Given the description of an element on the screen output the (x, y) to click on. 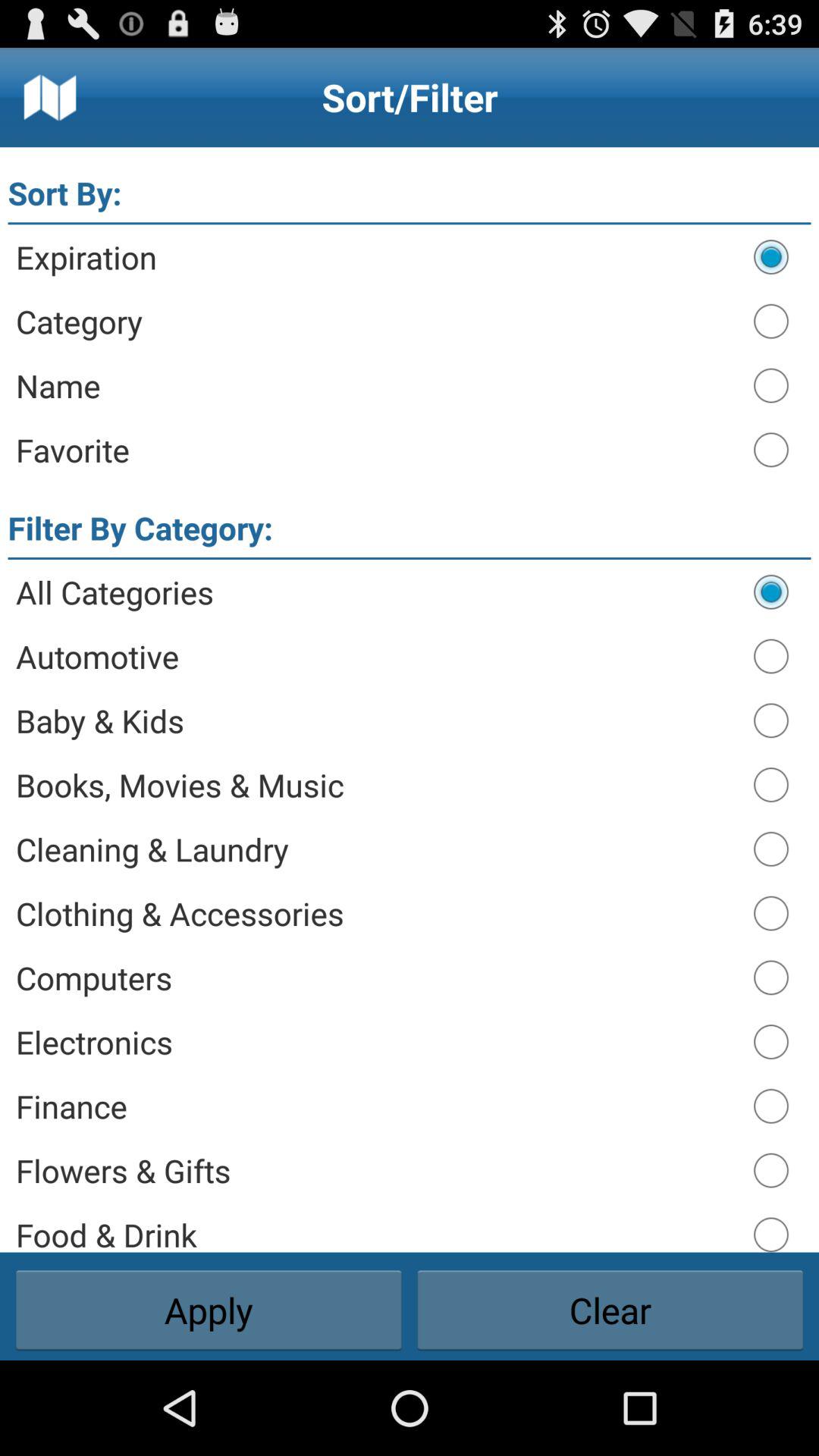
turn off the icon below food & drink app (610, 1310)
